Given the description of an element on the screen output the (x, y) to click on. 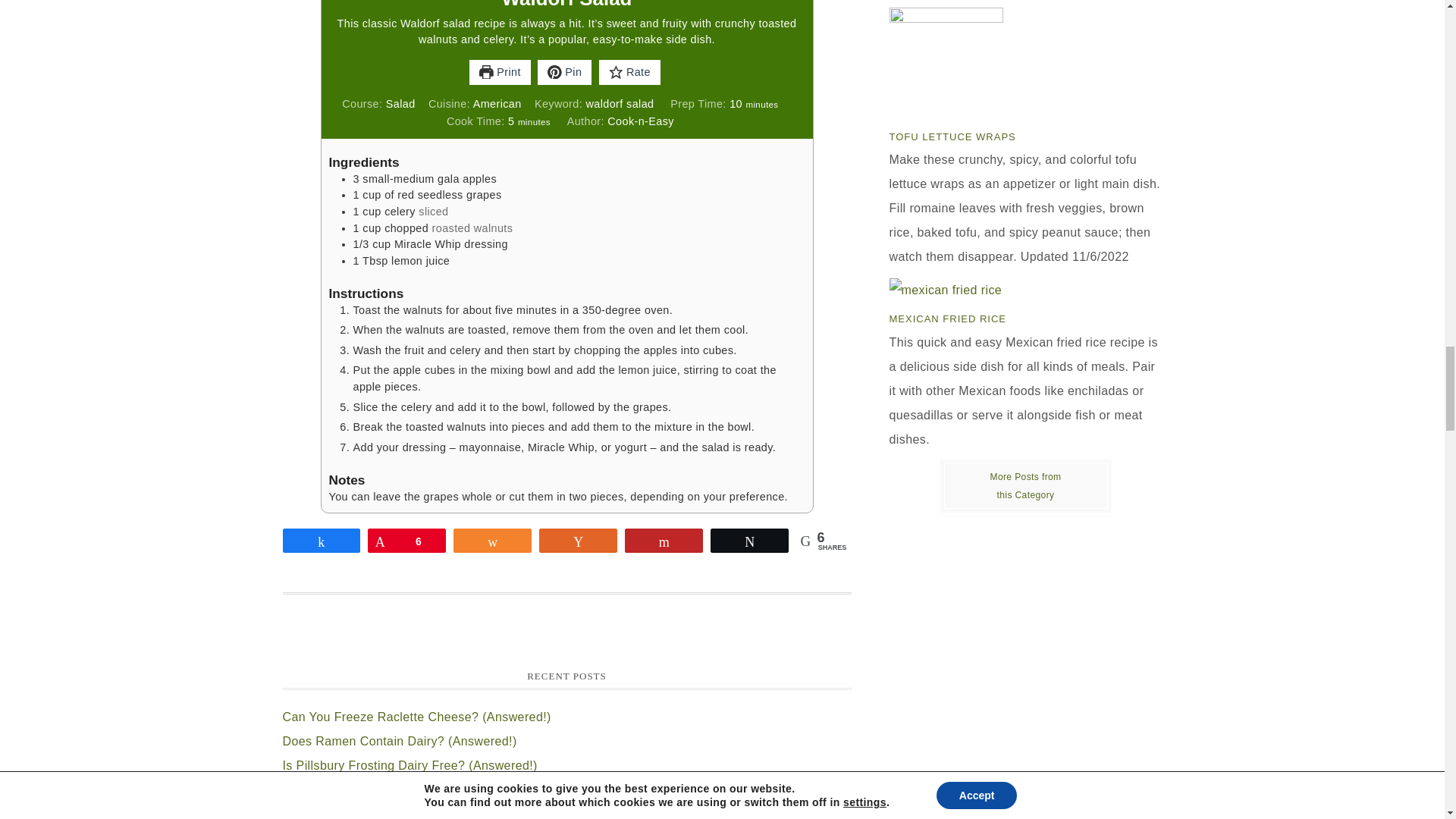
Vegetarian (1024, 485)
Pin (564, 72)
Print (499, 72)
6 (406, 540)
Rate (629, 72)
